Given the description of an element on the screen output the (x, y) to click on. 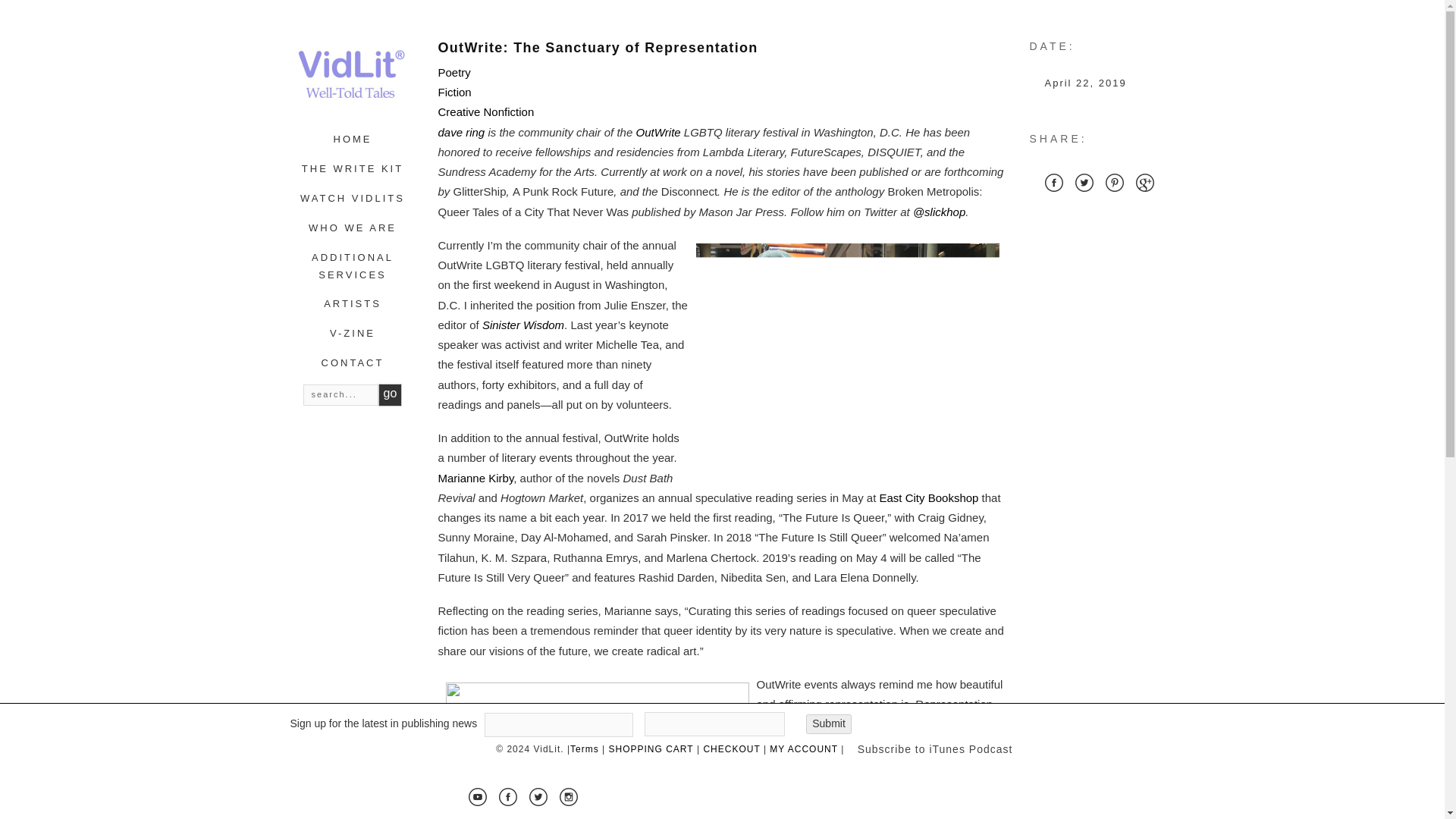
Poetry (454, 72)
THE WRITE KIT (352, 168)
Fiction (454, 91)
Marianne Kirby (475, 477)
go (390, 395)
OutWrite (656, 132)
East City Bookshop (928, 497)
HOME (352, 138)
Creative Nonfiction (486, 111)
go (390, 395)
